Given the description of an element on the screen output the (x, y) to click on. 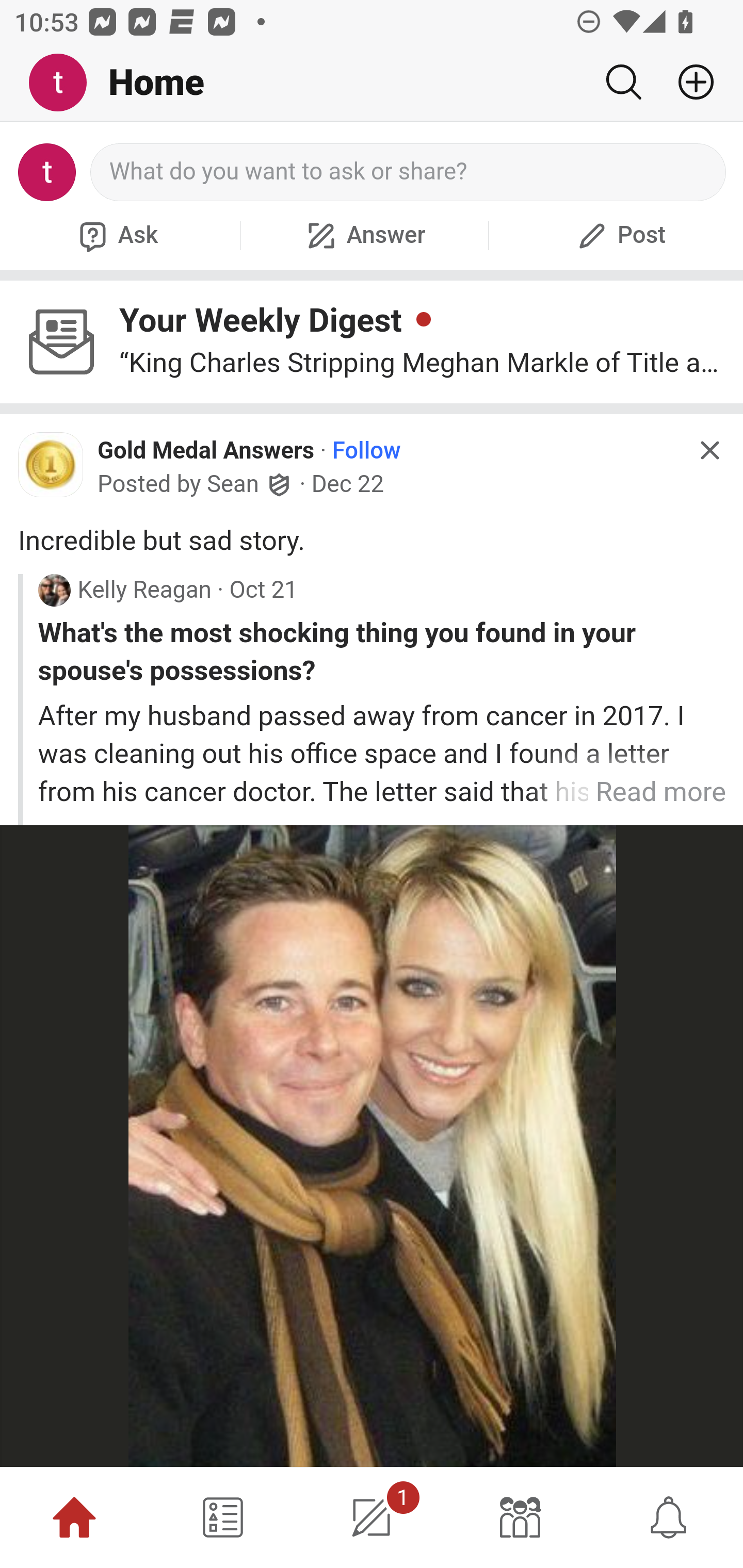
Me (64, 83)
Search (623, 82)
Add (688, 82)
What do you want to ask or share? (408, 172)
Ask (116, 234)
Answer (364, 234)
Post (618, 234)
Hide (709, 449)
Icon for Gold Medal Answers (50, 465)
Gold Medal Answers (206, 450)
Follow (365, 451)
Profile photo for Kelly Reagan (54, 589)
1 (371, 1517)
